Given the description of an element on the screen output the (x, y) to click on. 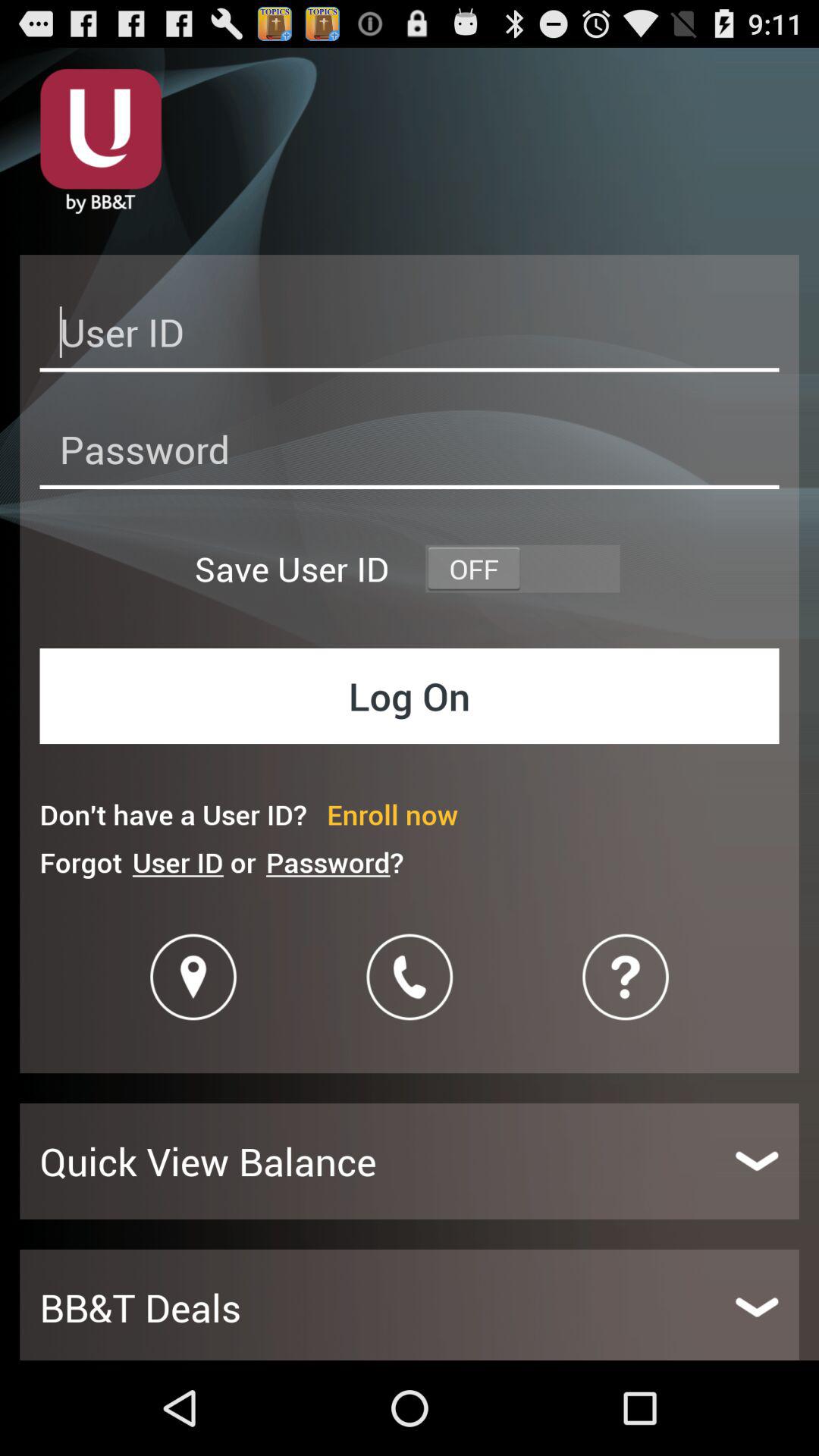
go to password (409, 454)
